Given the description of an element on the screen output the (x, y) to click on. 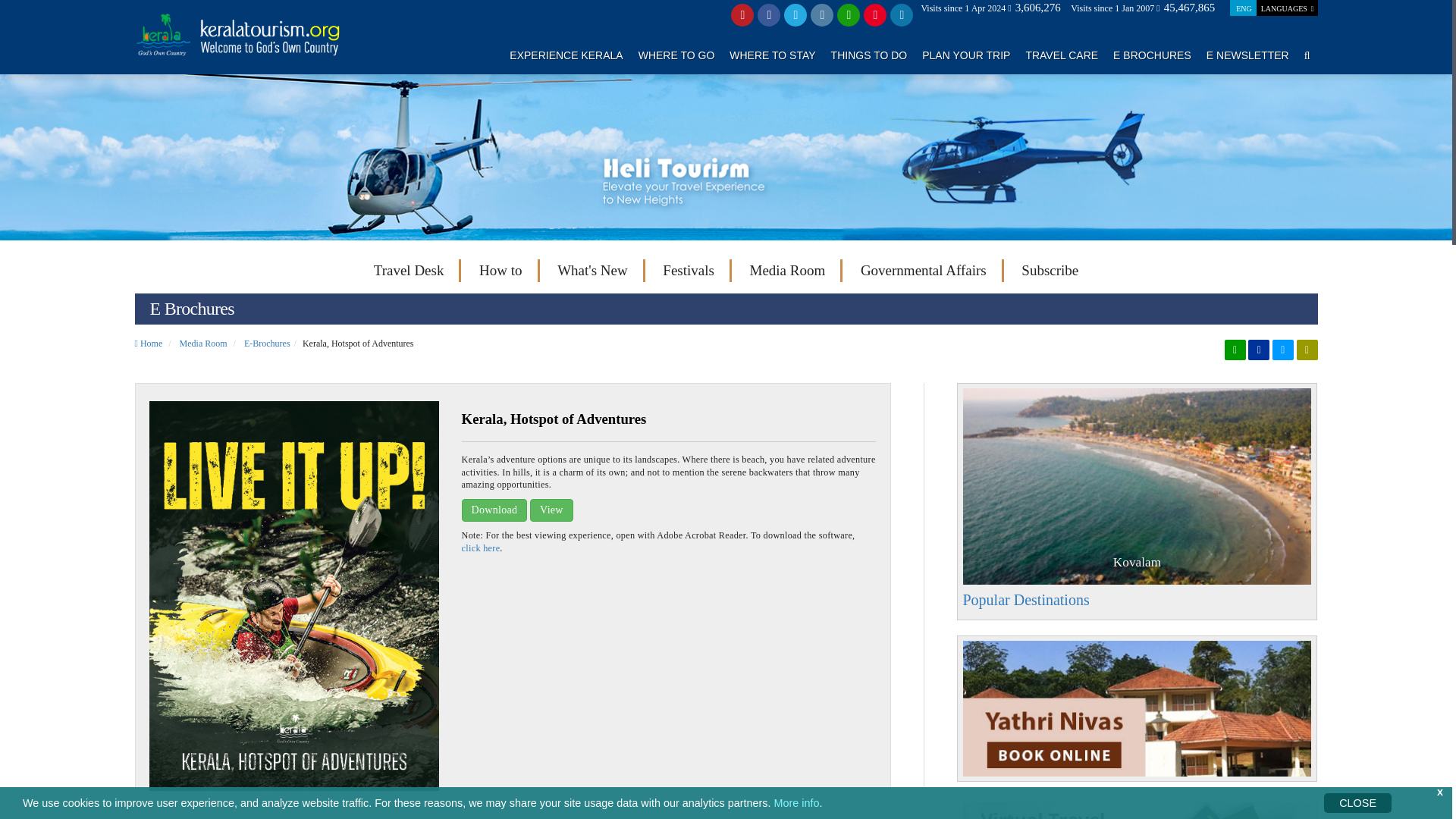
TRAVEL CARE (1061, 55)
Subscribe (1049, 270)
How to (500, 270)
Media Room (787, 270)
Home (149, 343)
WHERE TO GO (676, 55)
E BROCHURES (1152, 55)
EXPERIENCE KERALA (566, 55)
WHERE TO STAY (772, 55)
THINGS TO DO (869, 55)
Governmental Affairs (923, 270)
PLAN YOUR TRIP (965, 55)
Travel Desk (408, 270)
What's New (592, 270)
E NEWSLETTER (1247, 55)
